Given the description of an element on the screen output the (x, y) to click on. 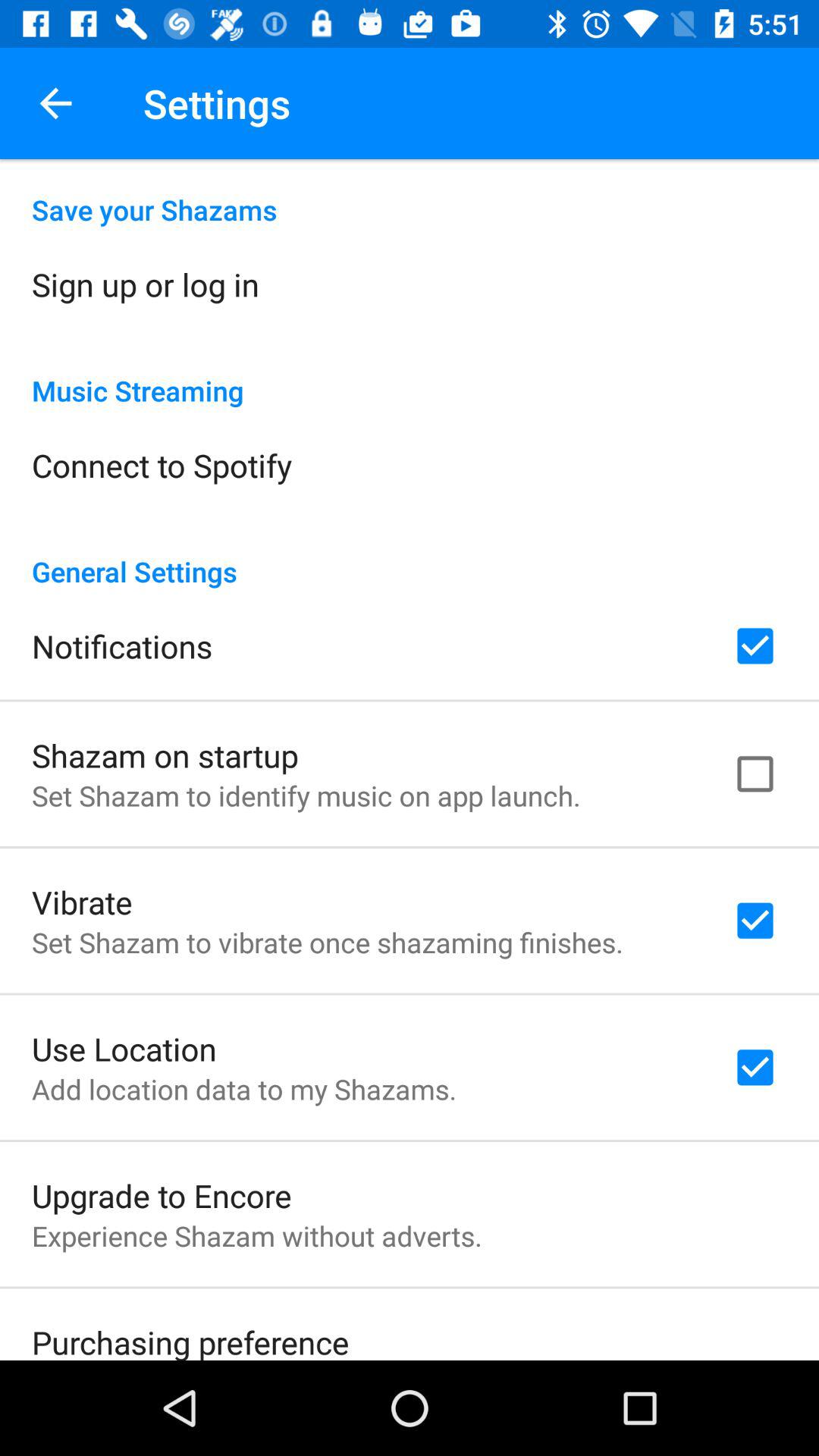
check option (755, 645)
